Given the description of an element on the screen output the (x, y) to click on. 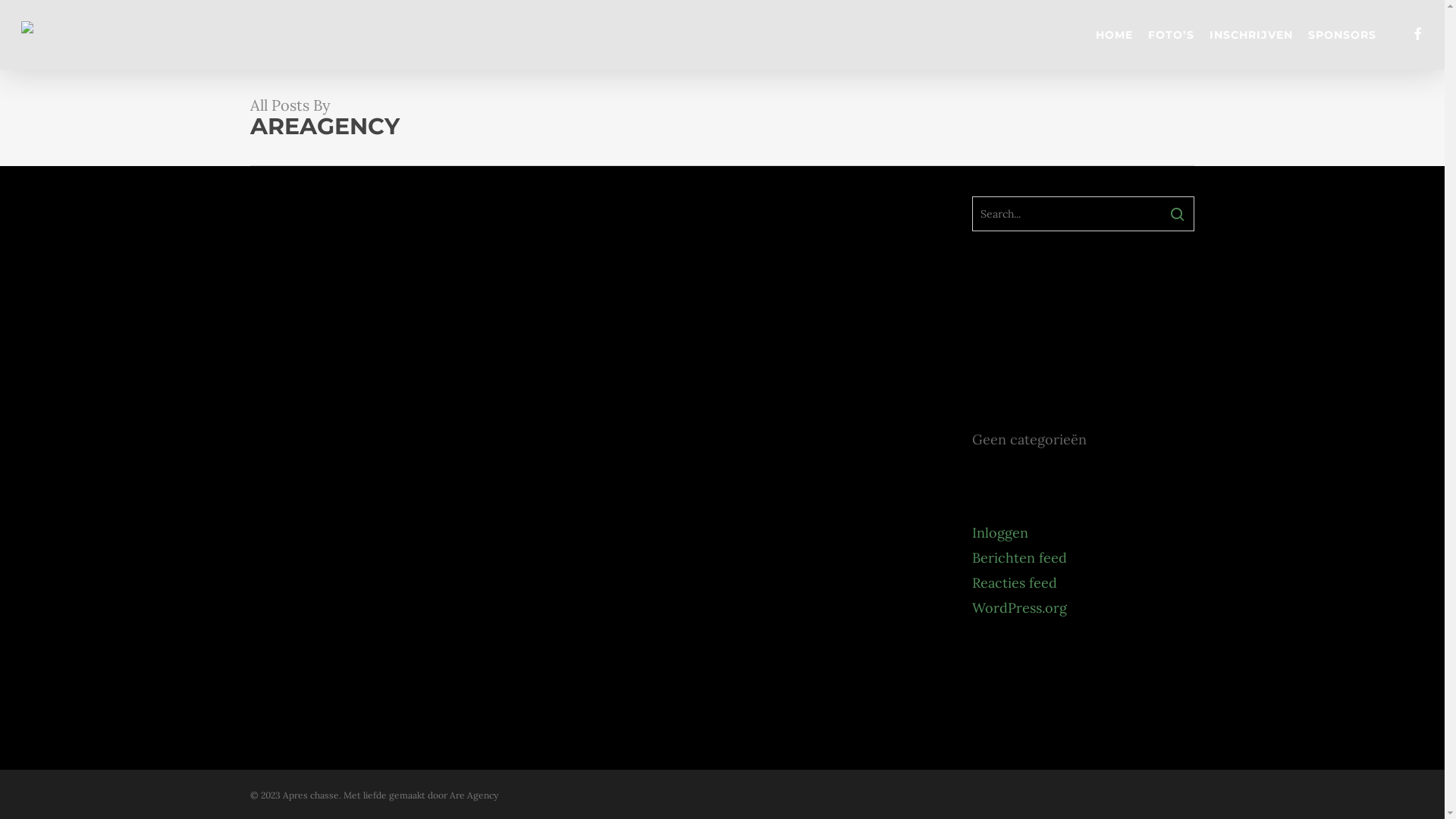
SPONSORS Element type: text (1341, 34)
WordPress.org Element type: text (1083, 607)
Search for: Element type: hover (1083, 213)
FACEBOOK Element type: text (1416, 34)
HOME Element type: text (1114, 34)
Reacties feed Element type: text (1083, 582)
Are Agency Element type: text (473, 794)
Inloggen Element type: text (1083, 532)
Berichten feed Element type: text (1083, 557)
INSCHRIJVEN Element type: text (1250, 34)
